Given the description of an element on the screen output the (x, y) to click on. 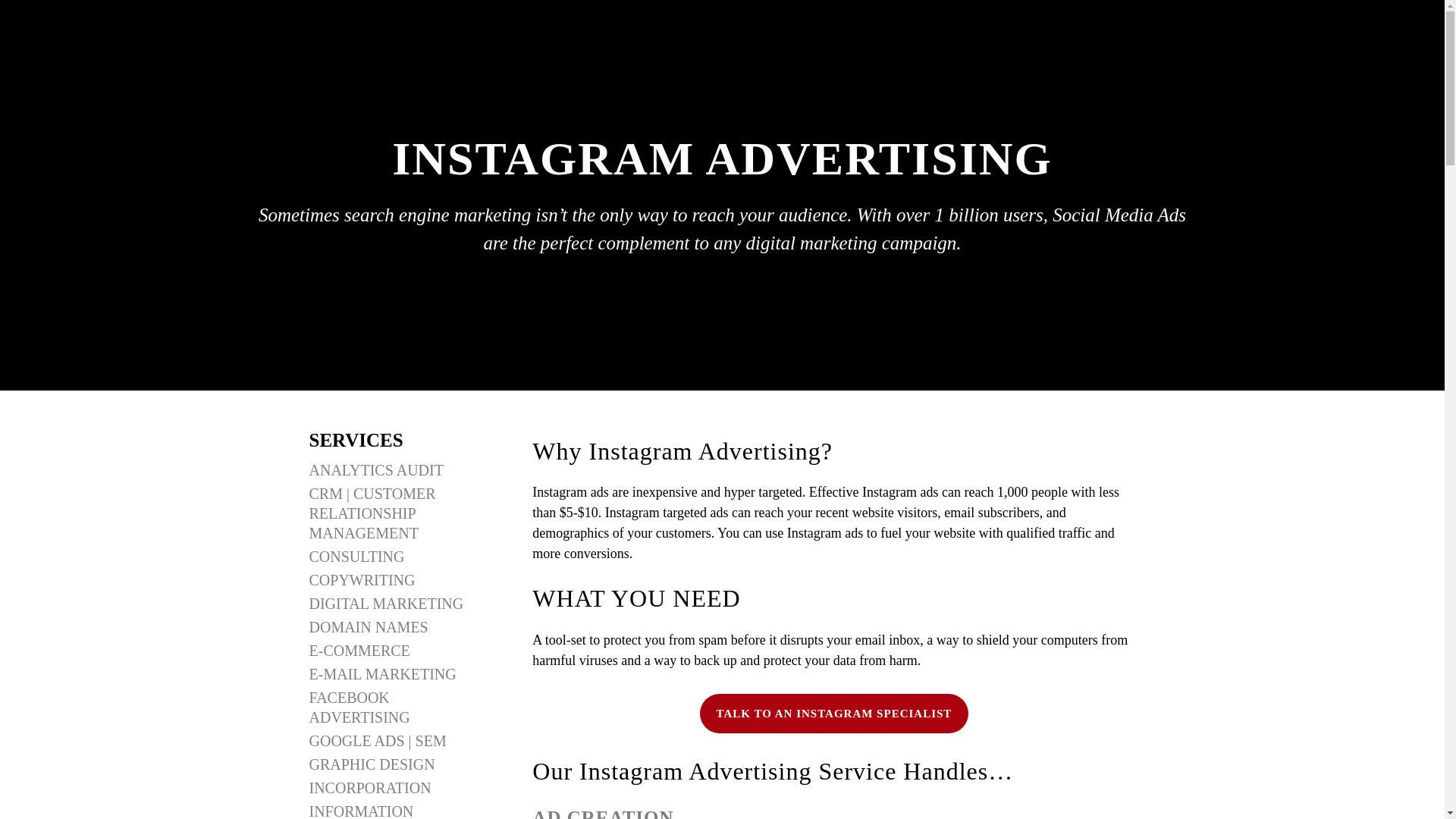
Company (957, 73)
Contact (1086, 73)
Home (766, 73)
CONSULTING (356, 556)
E-COMMERCE (359, 650)
DIGITAL MARKETING (386, 603)
Services (818, 73)
DOMAIN NAMES (368, 627)
ANALYTICS AUDIT (376, 469)
Knowledge (885, 73)
E-MAIL MARKETING (382, 673)
COPYWRITING (361, 579)
